Given the description of an element on the screen output the (x, y) to click on. 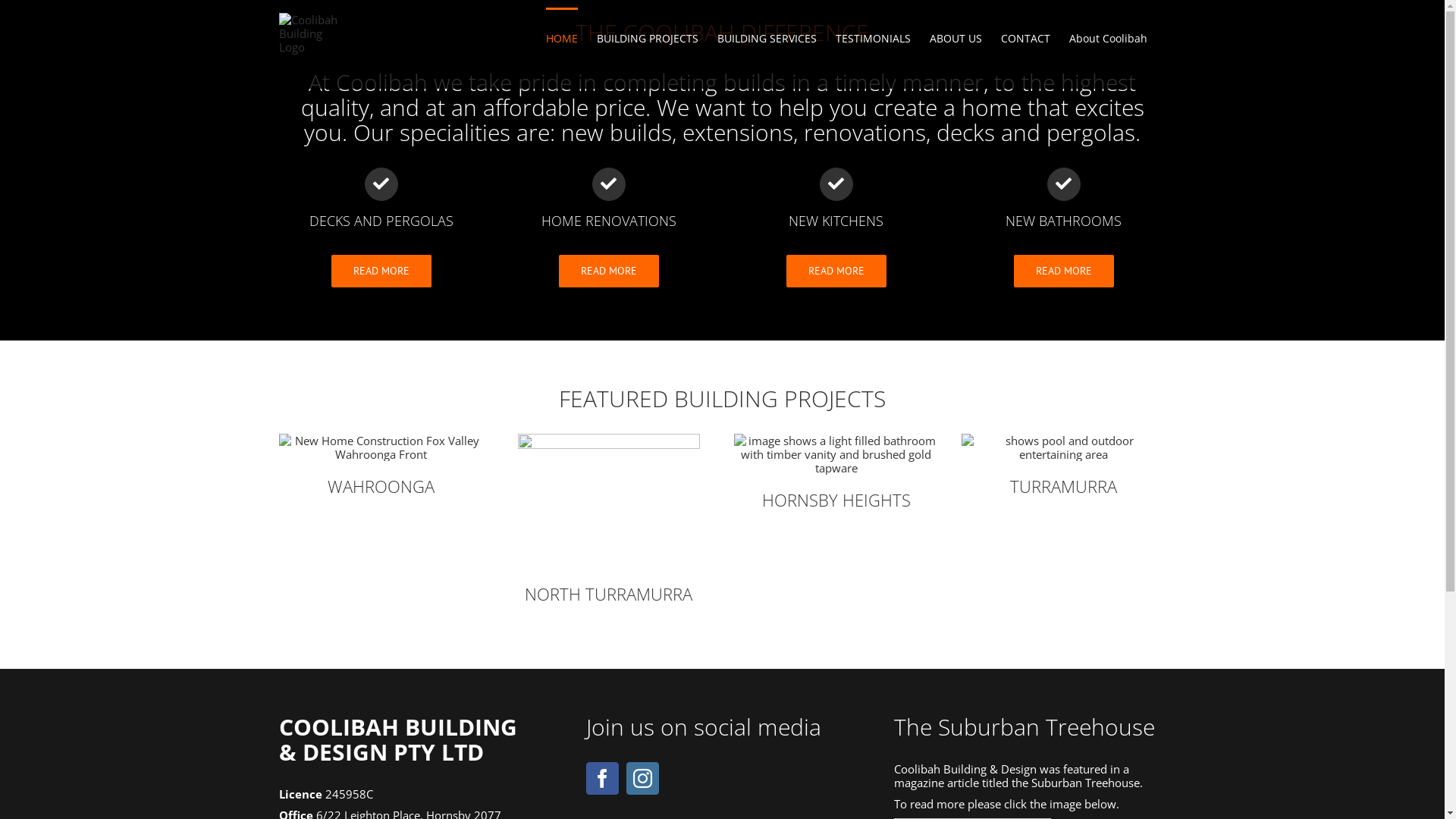
CONTACT Element type: text (1025, 37)
Facebook Element type: hover (602, 778)
DECKS AND PERGOLAS Element type: text (381, 198)
READ MORE Element type: text (608, 270)
TESTIMONIALS Element type: text (872, 37)
READ MORE Element type: text (1063, 270)
About Coolibah Element type: text (1108, 37)
HOME Element type: text (561, 37)
ABOUT US Element type: text (955, 37)
NEW BATHROOMS Element type: text (1063, 198)
WAHROONGA Element type: text (381, 464)
READ MORE Element type: text (835, 270)
HOME RENOVATIONS Element type: text (608, 198)
TURRAMURRA Element type: text (1063, 464)
BUILDING SERVICES Element type: text (766, 37)
Instagram Element type: hover (642, 778)
NORTH TURRAMURRA Element type: text (608, 518)
HORNSBY HEIGHTS Element type: text (836, 471)
NEW KITCHENS Element type: text (836, 198)
BUILDING PROJECTS Element type: text (646, 37)
READ MORE Element type: text (380, 270)
